Given the description of an element on the screen output the (x, y) to click on. 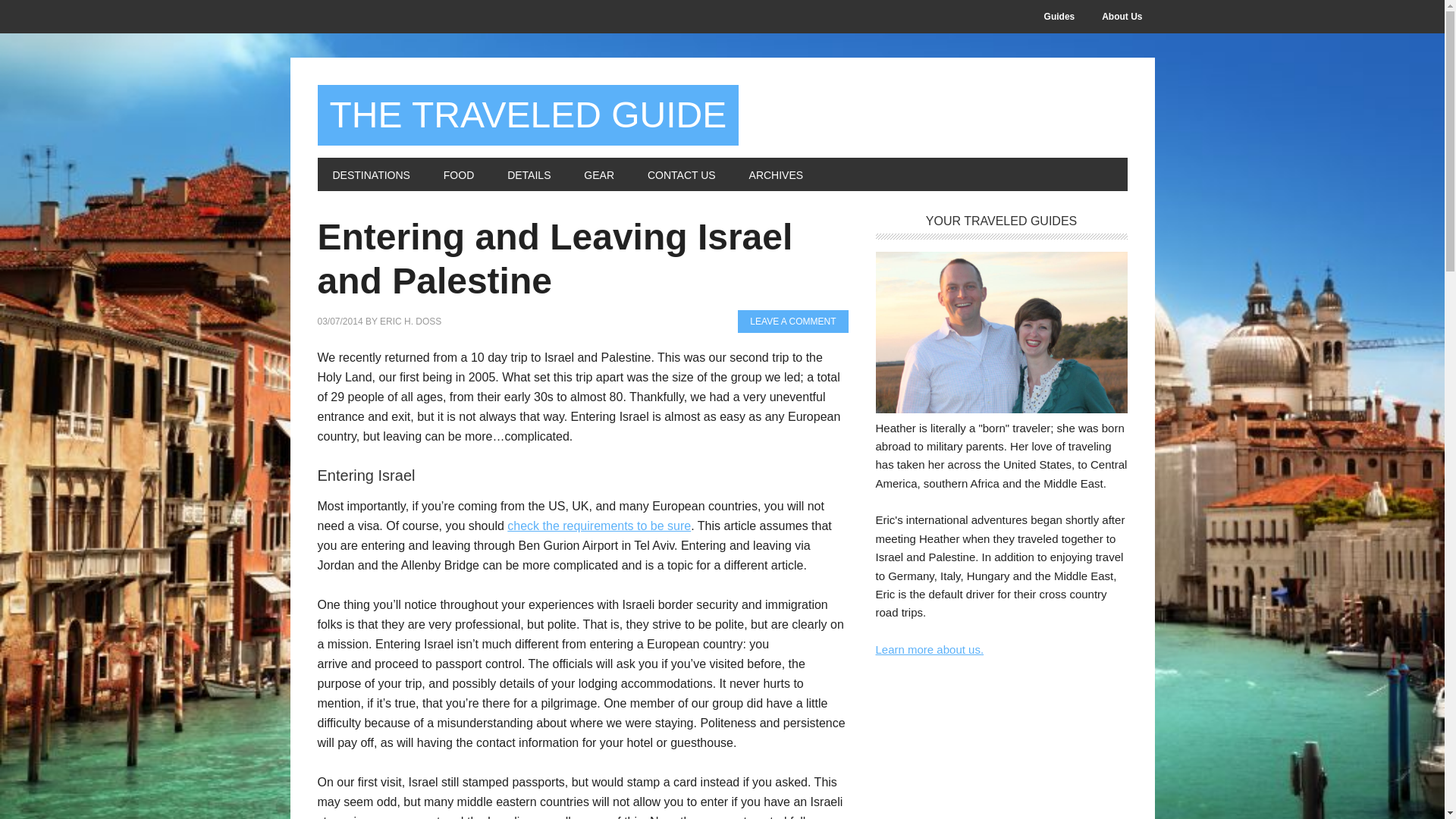
Entering and Leaving Israel and Palestine (554, 259)
Learn more about us. (929, 649)
DETAILS (529, 174)
DESTINATIONS (371, 174)
ERIC H. DOSS (410, 321)
CONTACT US (680, 174)
THE TRAVELED GUIDE (527, 115)
About Us (1121, 16)
ARCHIVES (775, 174)
GEAR (598, 174)
check the requirements to be sure (598, 525)
Guides (1059, 16)
LEAVE A COMMENT (792, 321)
FOOD (458, 174)
